Given the description of an element on the screen output the (x, y) to click on. 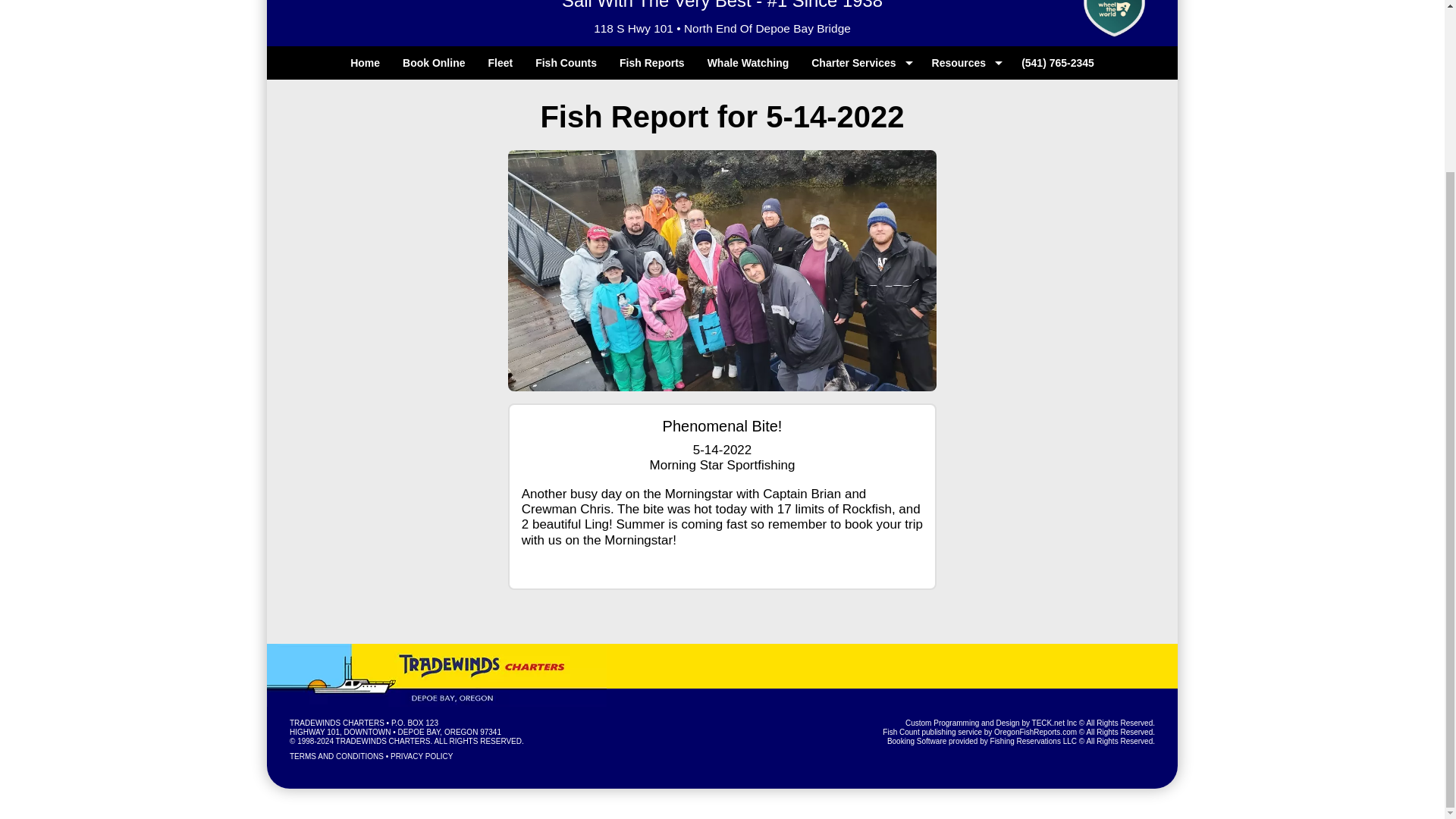
Book Online (433, 62)
Fleet (500, 62)
TRADEWINDS CHARTERS (336, 723)
PRIVACY POLICY (421, 756)
Resources (965, 62)
Fishing Reservations LLC (1033, 741)
Whale Watching (747, 62)
Fish Counts (566, 62)
TECK.net Inc (1054, 723)
Charter Services (859, 62)
Fish Reports (651, 62)
TRADEWINDS CHARTERS (383, 741)
OregonFishReports.com (1035, 732)
TERMS AND CONDITIONS (336, 756)
Home (365, 62)
